Given the description of an element on the screen output the (x, y) to click on. 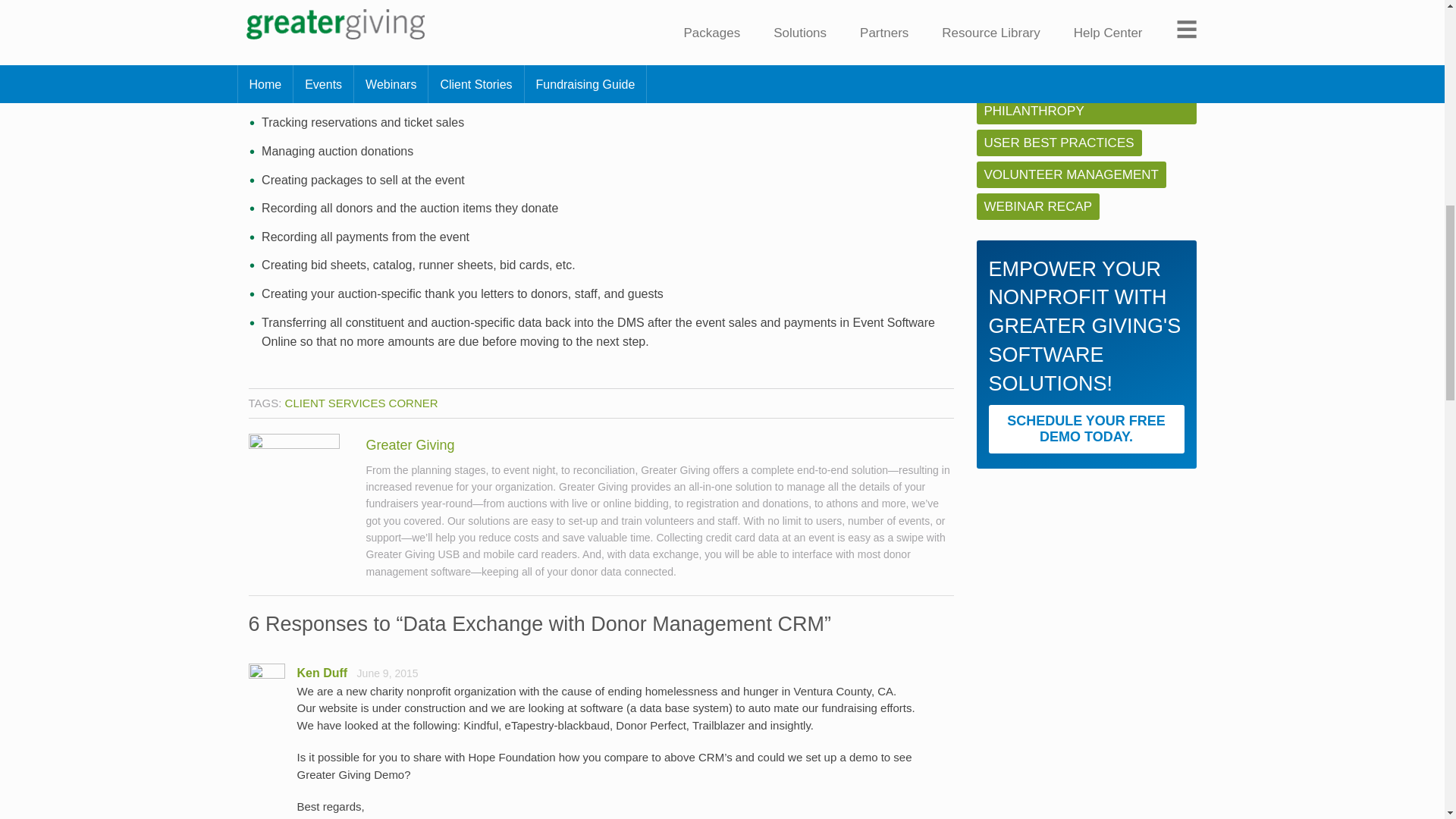
Greater Giving Data Exchange Video (351, 3)
Posts by Greater Giving (410, 444)
